Given the description of an element on the screen output the (x, y) to click on. 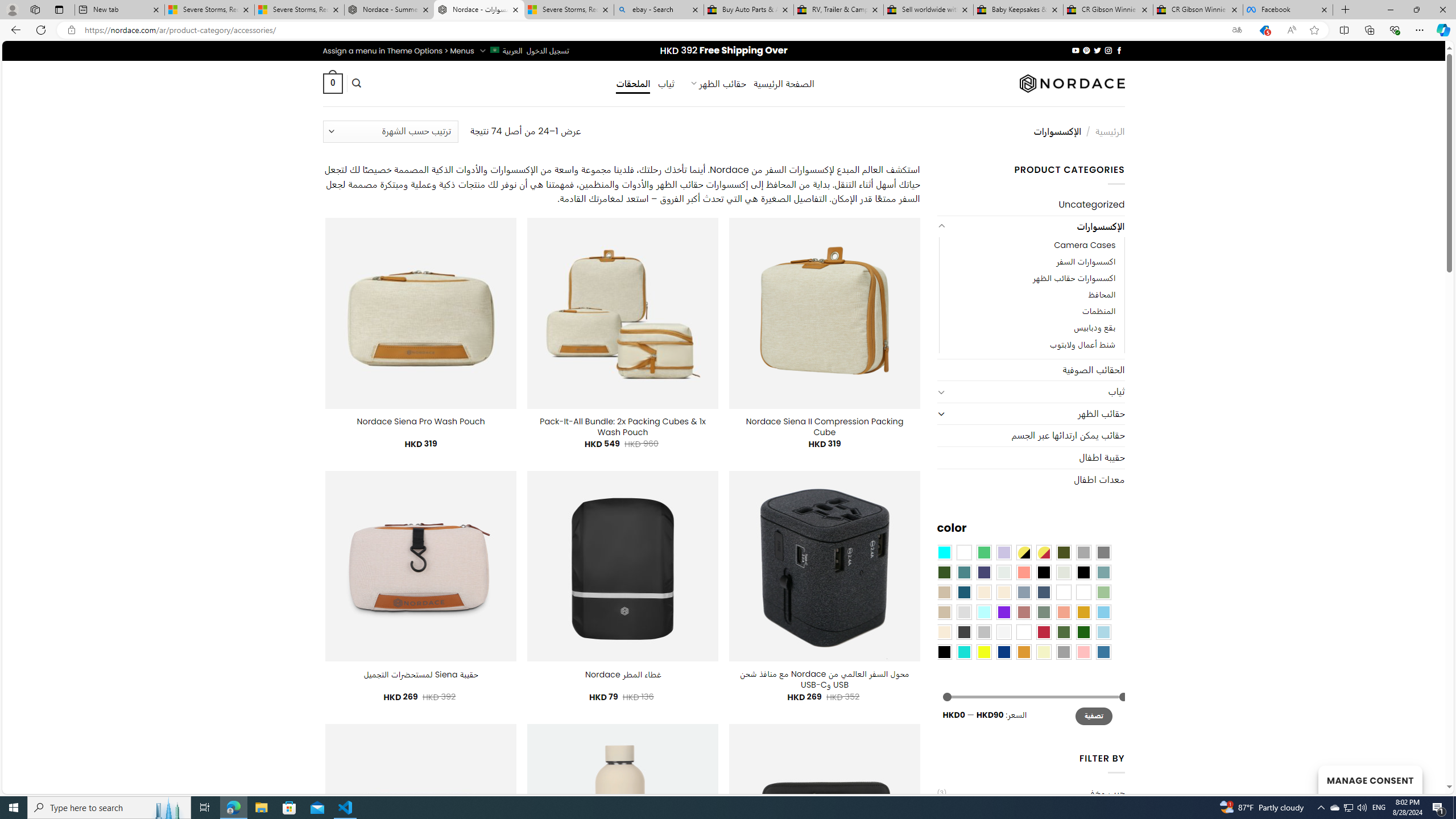
App bar (728, 29)
Personal Profile (12, 9)
 0  (332, 83)
Follow on Instagram (1108, 50)
